Given the description of an element on the screen output the (x, y) to click on. 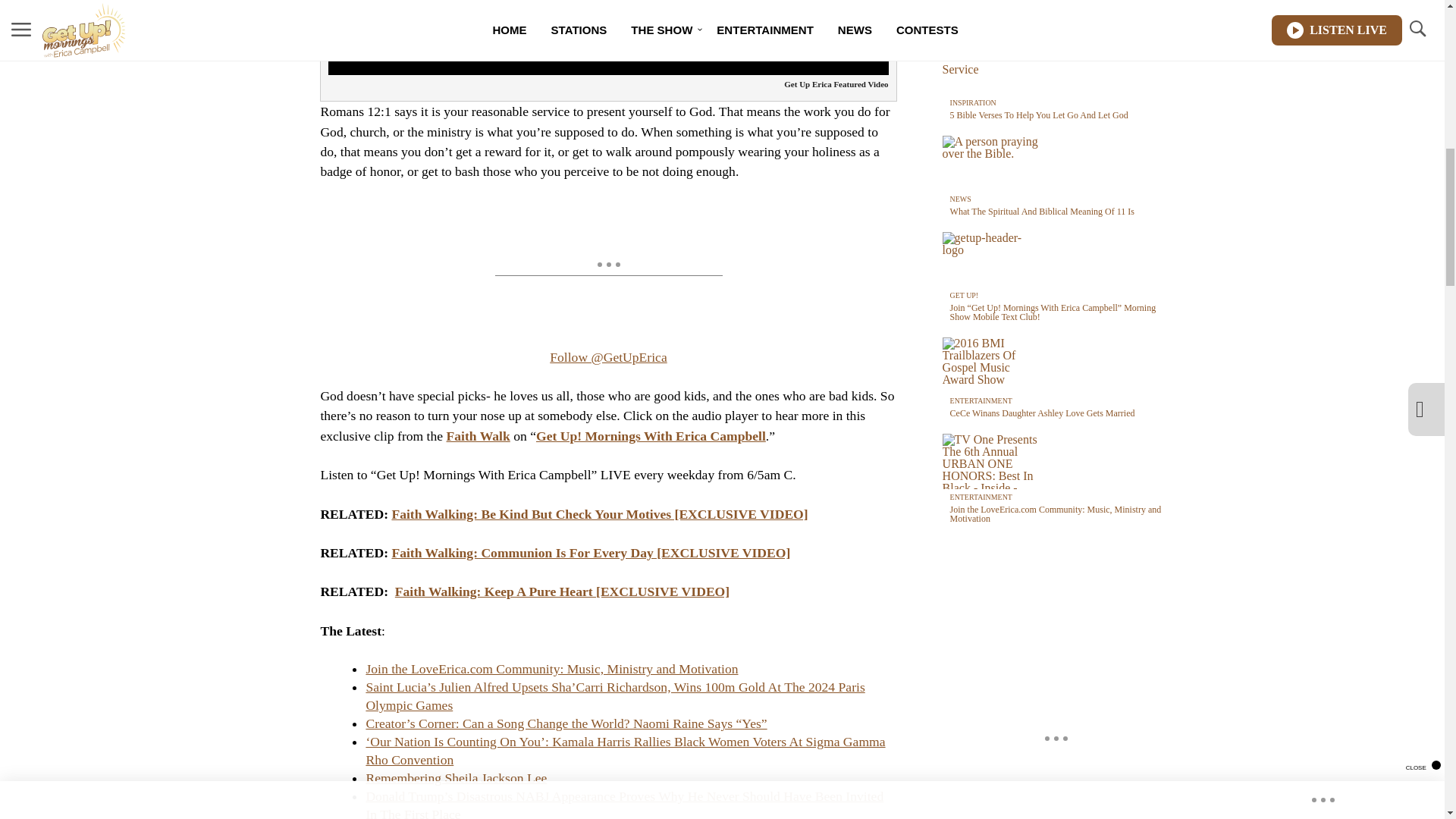
Get Up! Mornings With Erica Campbell (650, 435)
Faith Walk (478, 435)
